Given the description of an element on the screen output the (x, y) to click on. 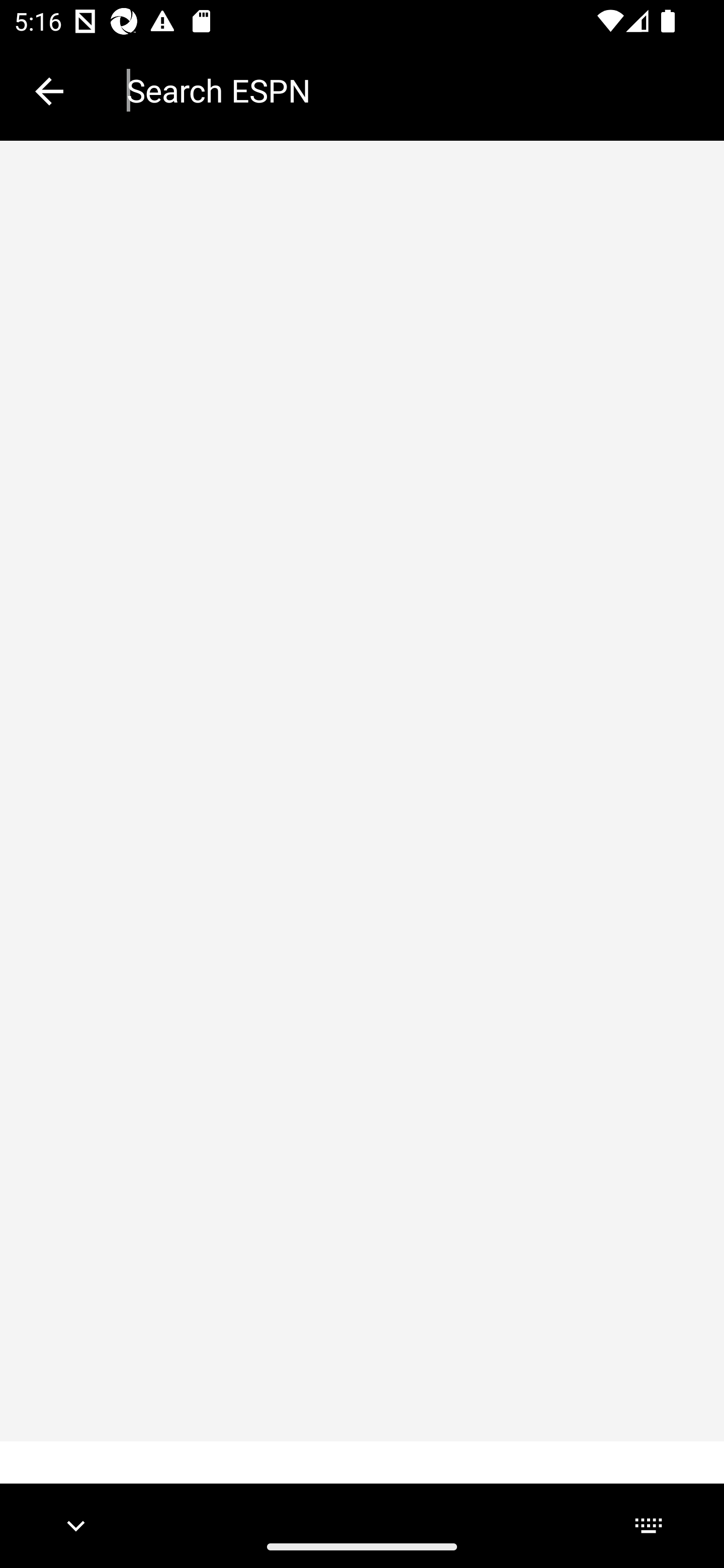
Collapse (49, 91)
Search ESPN (411, 90)
